Given the description of an element on the screen output the (x, y) to click on. 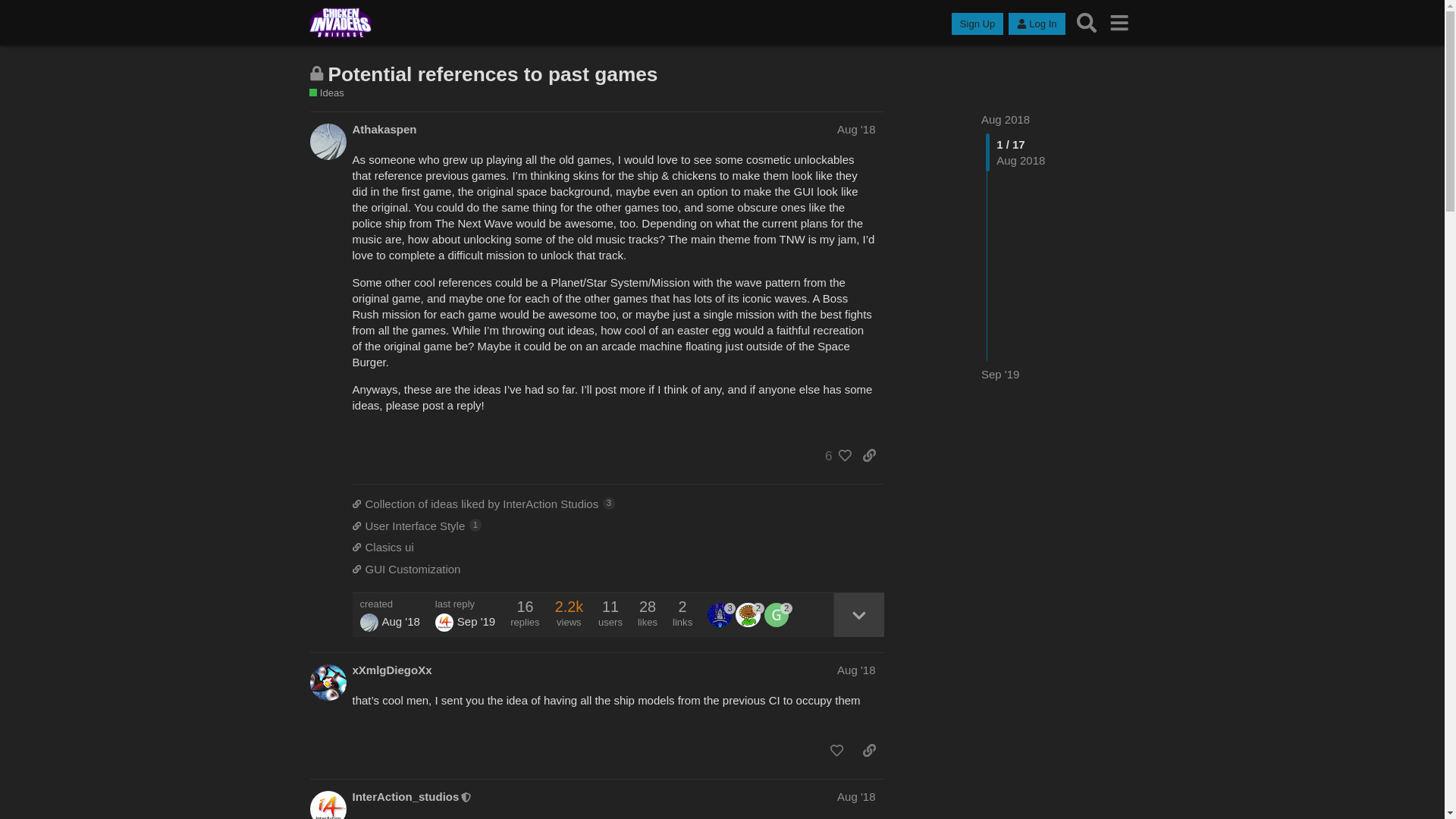
share a link to this post (869, 455)
2216 (568, 606)
6 people liked this post (833, 455)
Aug 25, 2018 8:56 am (400, 621)
Search (1086, 22)
Log In (1036, 24)
Aug '18 (856, 128)
Sep 10, 2019 6:11 am (1000, 373)
GUI Customization (617, 569)
Aug 2018 (1005, 119)
Sep '19 (1000, 374)
Post date (856, 128)
This is where all your ideas about CIU go. (325, 92)
6 (833, 455)
Sign Up (977, 24)
